Given the description of an element on the screen output the (x, y) to click on. 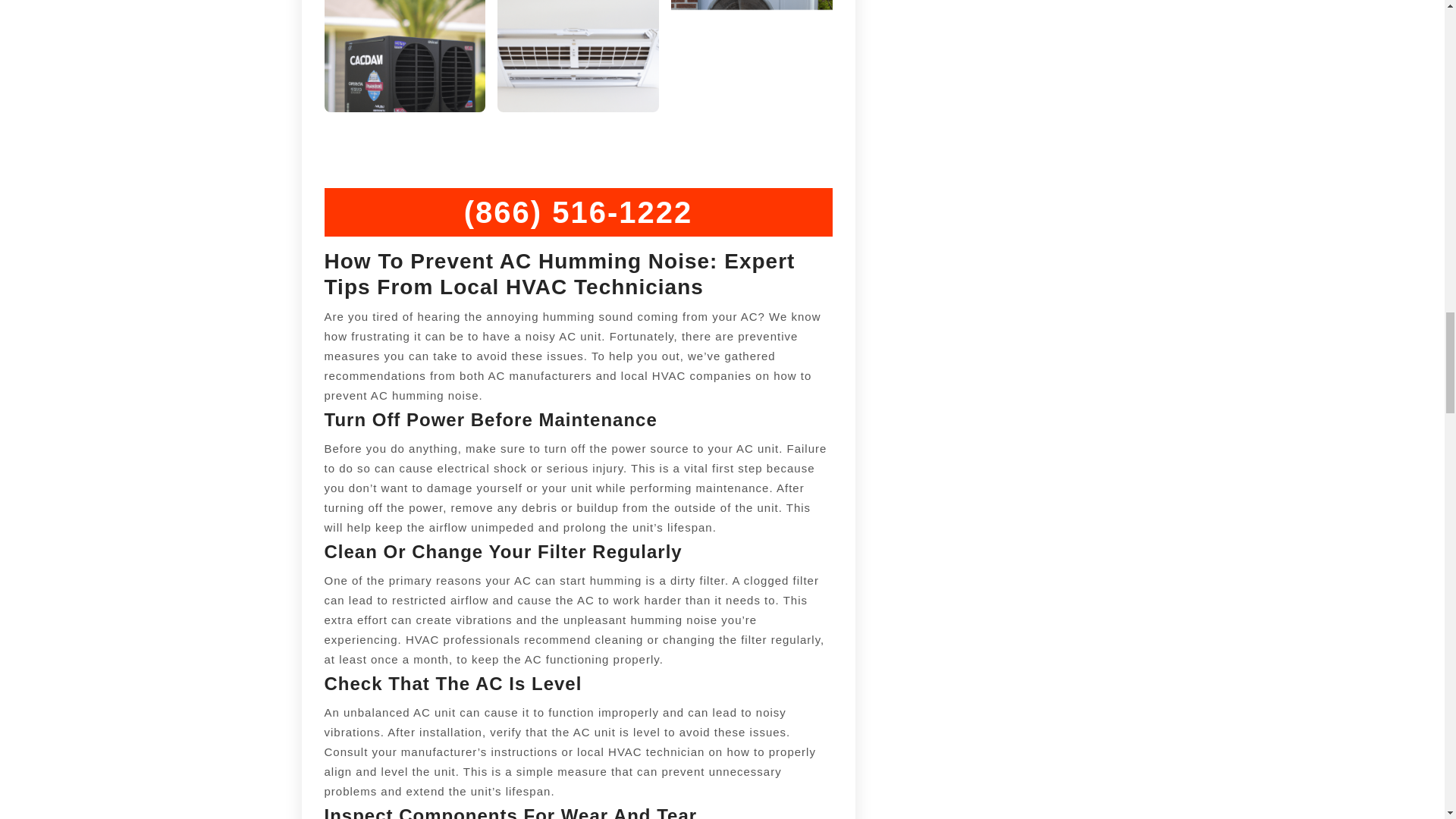
AC Making Humming Noise Due to Bad Capacitor (751, 56)
AC Making Humming Noise Due to Bad Capacitor (405, 56)
AC Making Humming Noise Due to Bad Capacitor (578, 56)
